Given the description of an element on the screen output the (x, y) to click on. 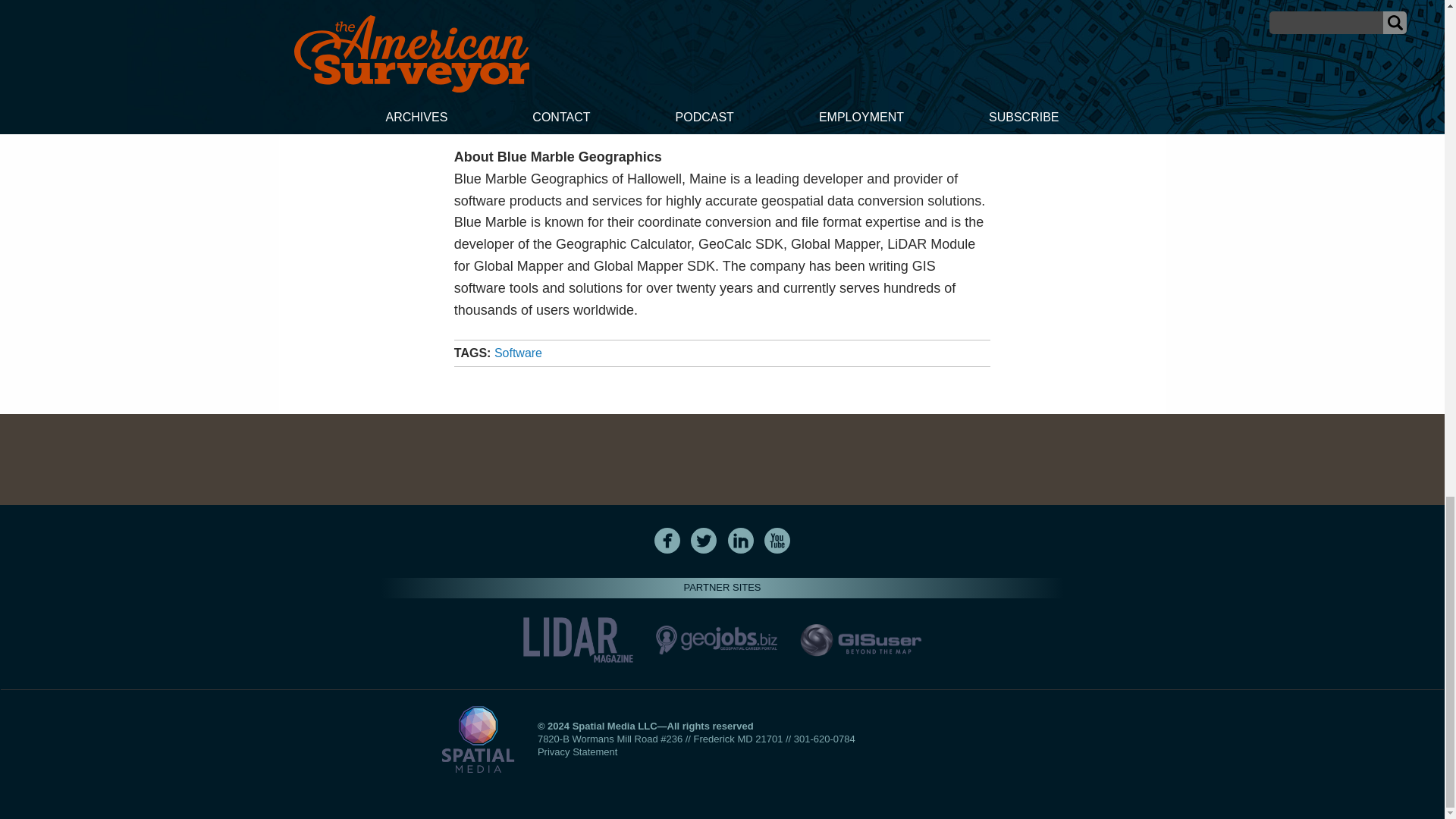
Privacy Statement (577, 751)
icon-sm-linkedin (740, 540)
icon-sm-fb (667, 540)
icon-sm-fb (666, 540)
3rd party ad content (721, 459)
icon-sm-youtube (777, 540)
icon-sm-youtube (776, 540)
Software (518, 352)
icon-sm-twitter (703, 540)
icon-sm-linkedin (741, 540)
icon-sm-twitter (703, 540)
